Given the description of an element on the screen output the (x, y) to click on. 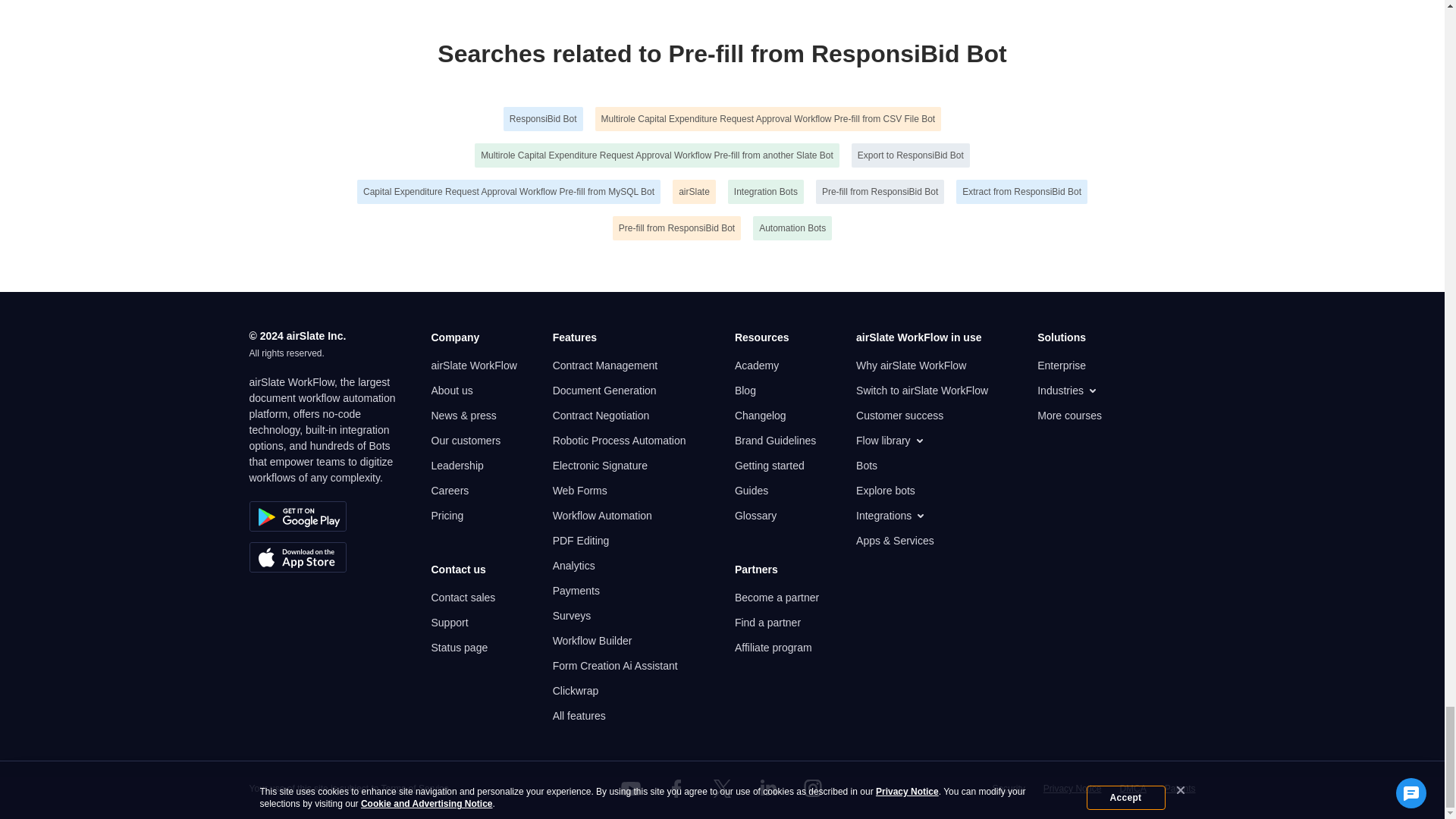
Twitter (721, 788)
LinkedIn (767, 788)
Instagram (812, 788)
YouTube (630, 788)
Facebook (676, 788)
